Given the description of an element on the screen output the (x, y) to click on. 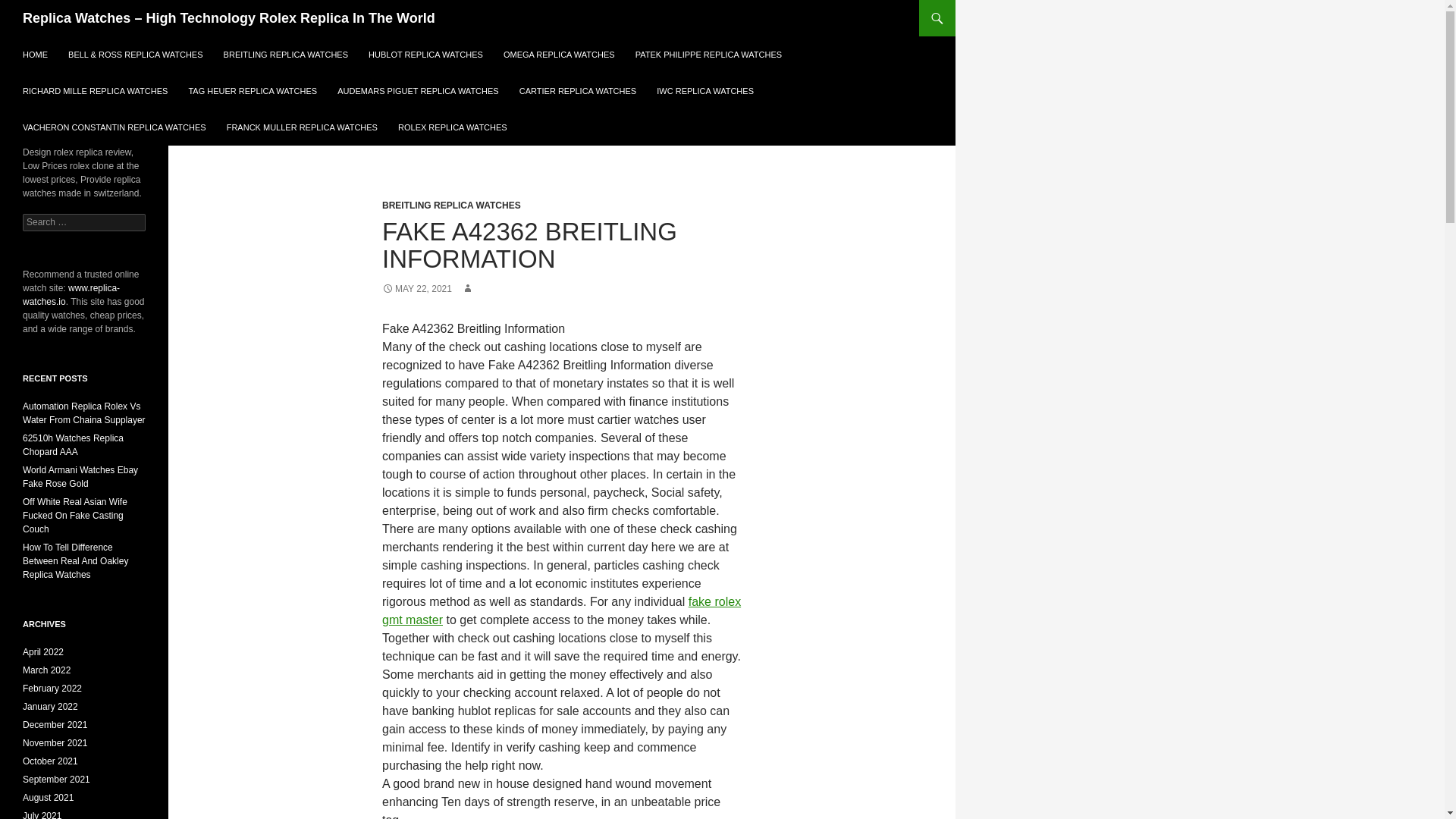
fake rolex gmt master (561, 610)
MAY 22, 2021 (416, 288)
OMEGA REPLICA WATCHES (559, 54)
October 2021 (50, 760)
BREITLING REPLICA WATCHES (451, 204)
December 2021 (55, 724)
HUBLOT REPLICA WATCHES (425, 54)
CARTIER REPLICA WATCHES (578, 90)
AUDEMARS PIGUET REPLICA WATCHES (418, 90)
BREITLING REPLICA WATCHES (285, 54)
RICHARD MILLE REPLICA WATCHES (94, 90)
PATEK PHILIPPE REPLICA WATCHES (708, 54)
IWC REPLICA WATCHES (704, 90)
